Given the description of an element on the screen output the (x, y) to click on. 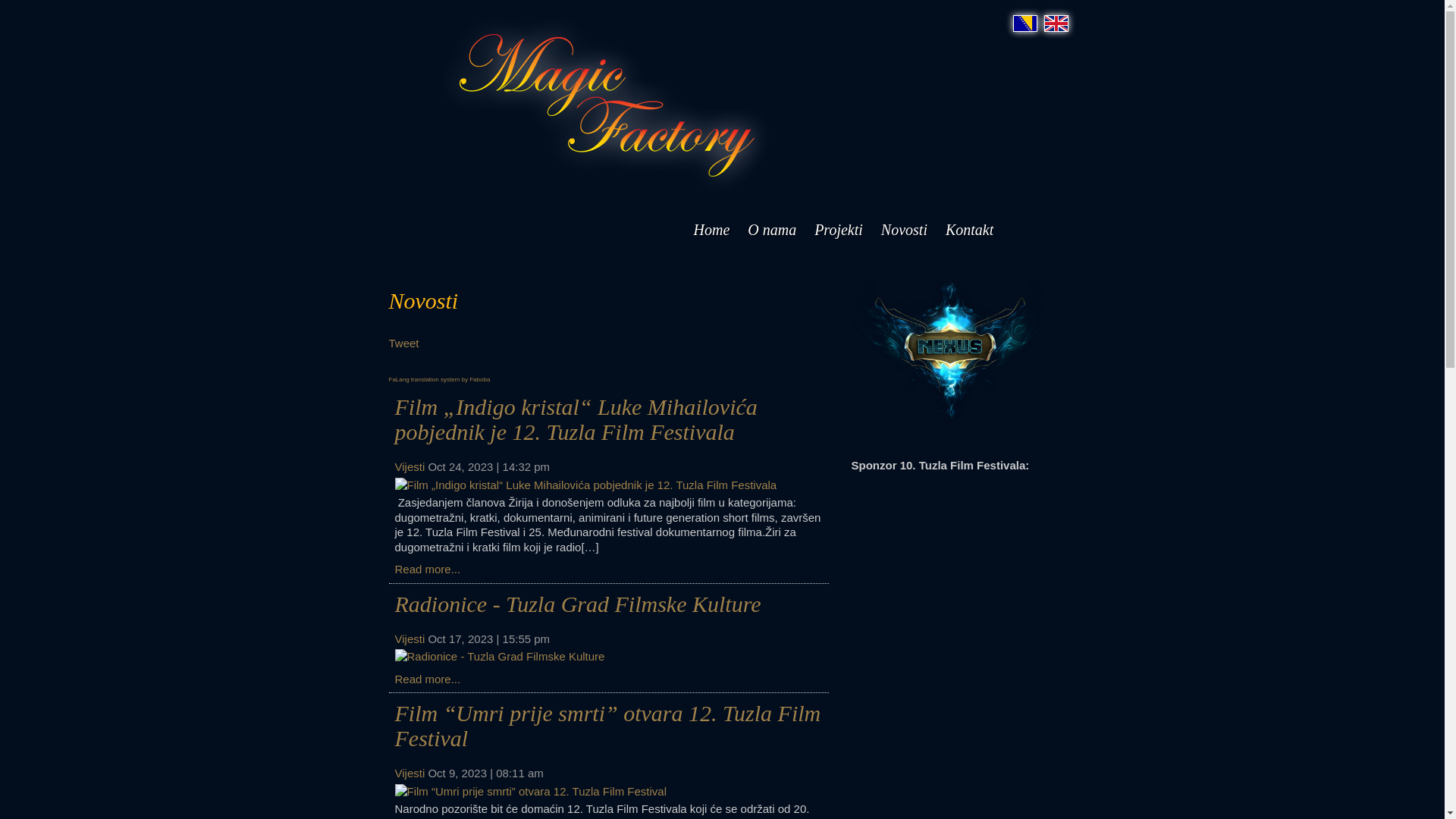
Kontakt Element type: text (969, 229)
Bosanski Element type: hover (1025, 23)
Radionice - Tuzla Grad Filmske Kulture Element type: text (577, 603)
English (UK) Element type: hover (1055, 23)
Vijesti Element type: text (409, 772)
Home Element type: text (711, 229)
O nama Element type: text (771, 229)
Read more... Element type: text (427, 677)
Projekti Element type: text (838, 229)
FaLang translation system by Faboba Element type: text (438, 379)
Vijesti Element type: text (409, 638)
Read more... Element type: text (427, 568)
Vijesti Element type: text (409, 466)
Tweet Element type: text (403, 342)
Novosti Element type: text (904, 229)
